Given the description of an element on the screen output the (x, y) to click on. 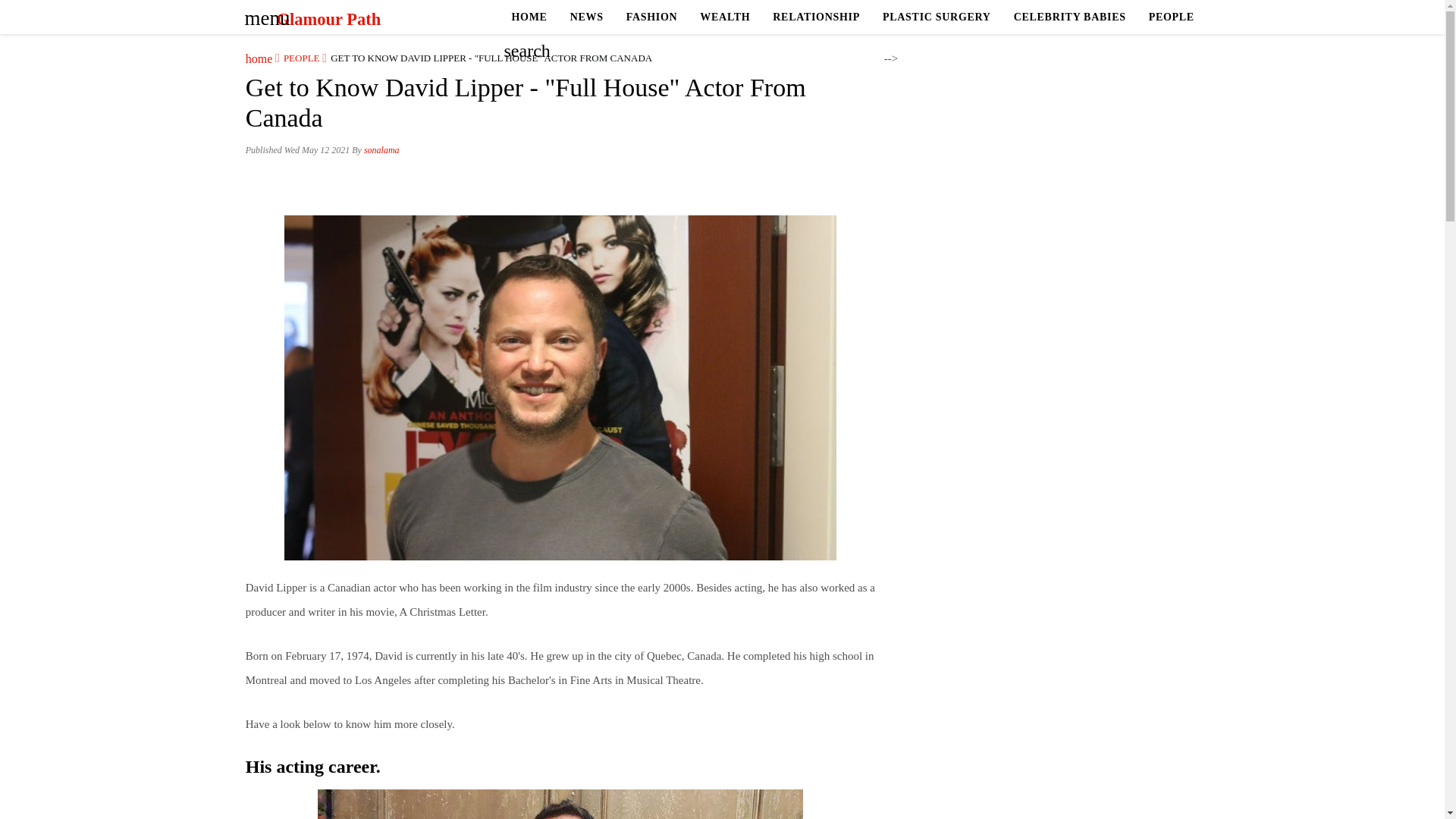
CELEBRITY BABIES (1070, 17)
menu (262, 13)
WEALTH (724, 17)
PLASTIC SURGERY (936, 17)
sonalama (381, 149)
home (259, 57)
PEOPLE (297, 57)
FASHION (651, 17)
RELATIONSHIP (815, 17)
